Given the description of an element on the screen output the (x, y) to click on. 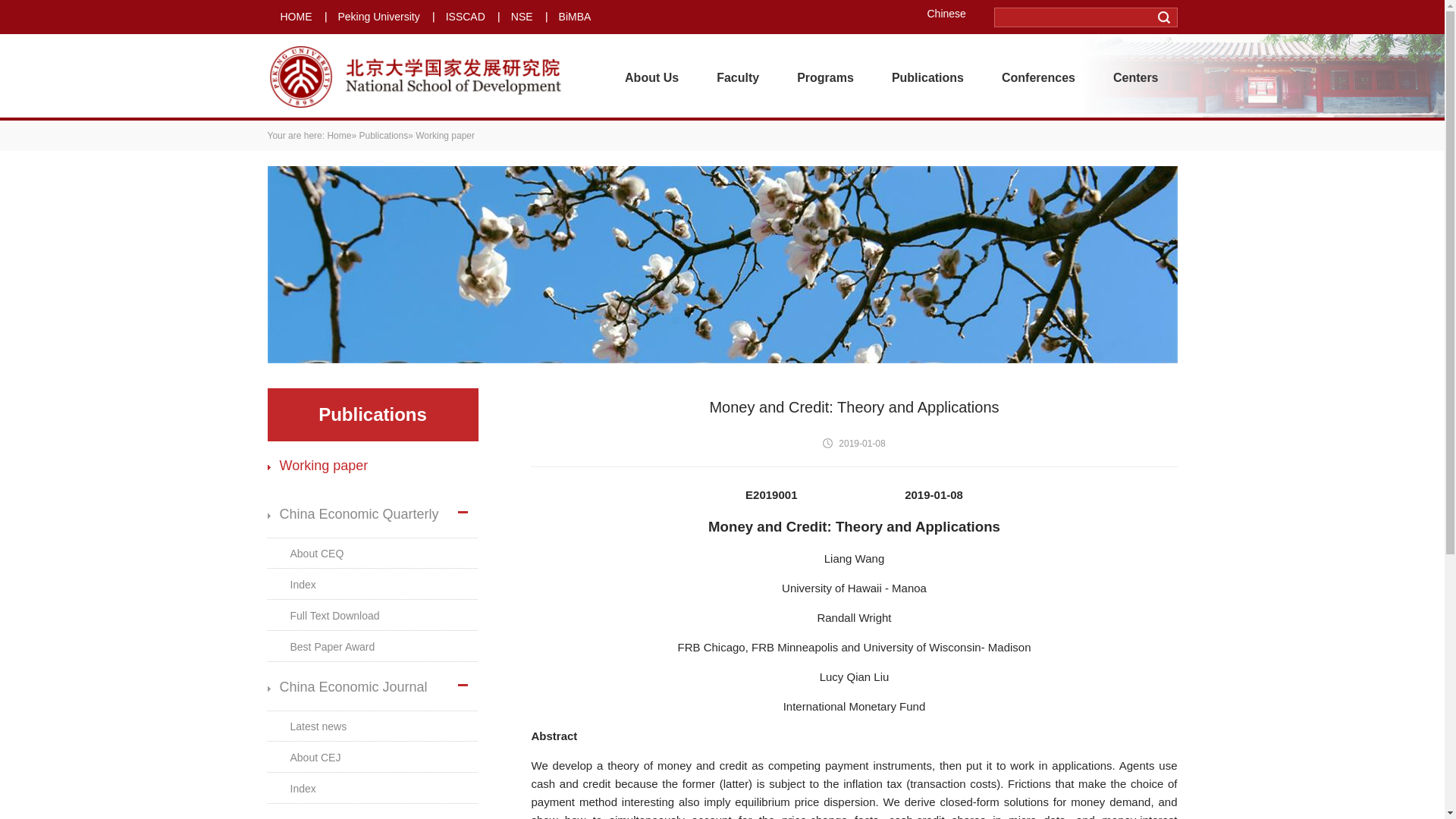
Peking University (378, 16)
Chinese (950, 13)
About Us (651, 77)
Publications (927, 77)
Faculty (737, 77)
NSE (521, 16)
HOME (297, 16)
BiMBA (575, 16)
ISSCAD (464, 16)
Programs (824, 77)
